Given the description of an element on the screen output the (x, y) to click on. 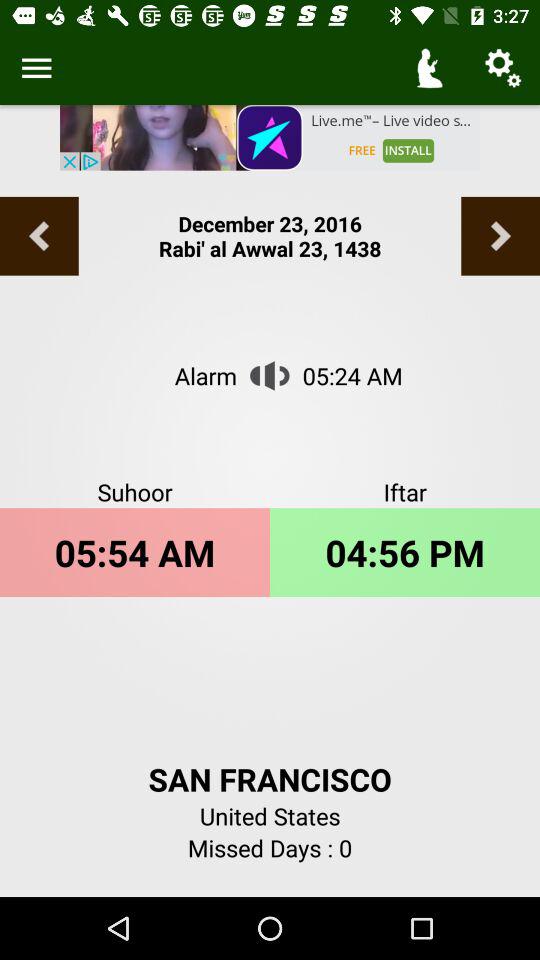
settings (36, 68)
